Given the description of an element on the screen output the (x, y) to click on. 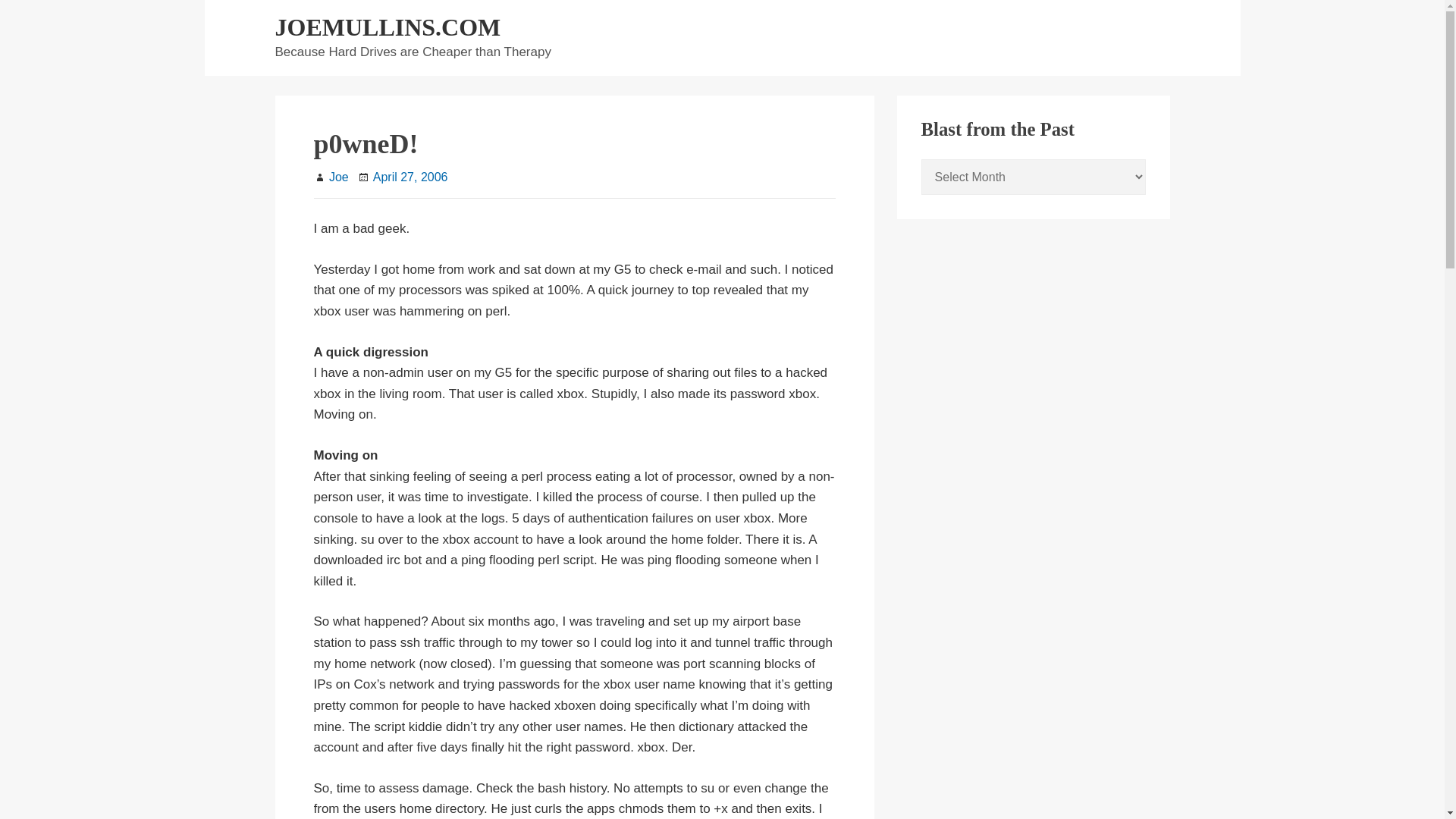
JOEMULLINS.COM (387, 26)
Joe (339, 176)
April 27, 2006 (410, 176)
